Given the description of an element on the screen output the (x, y) to click on. 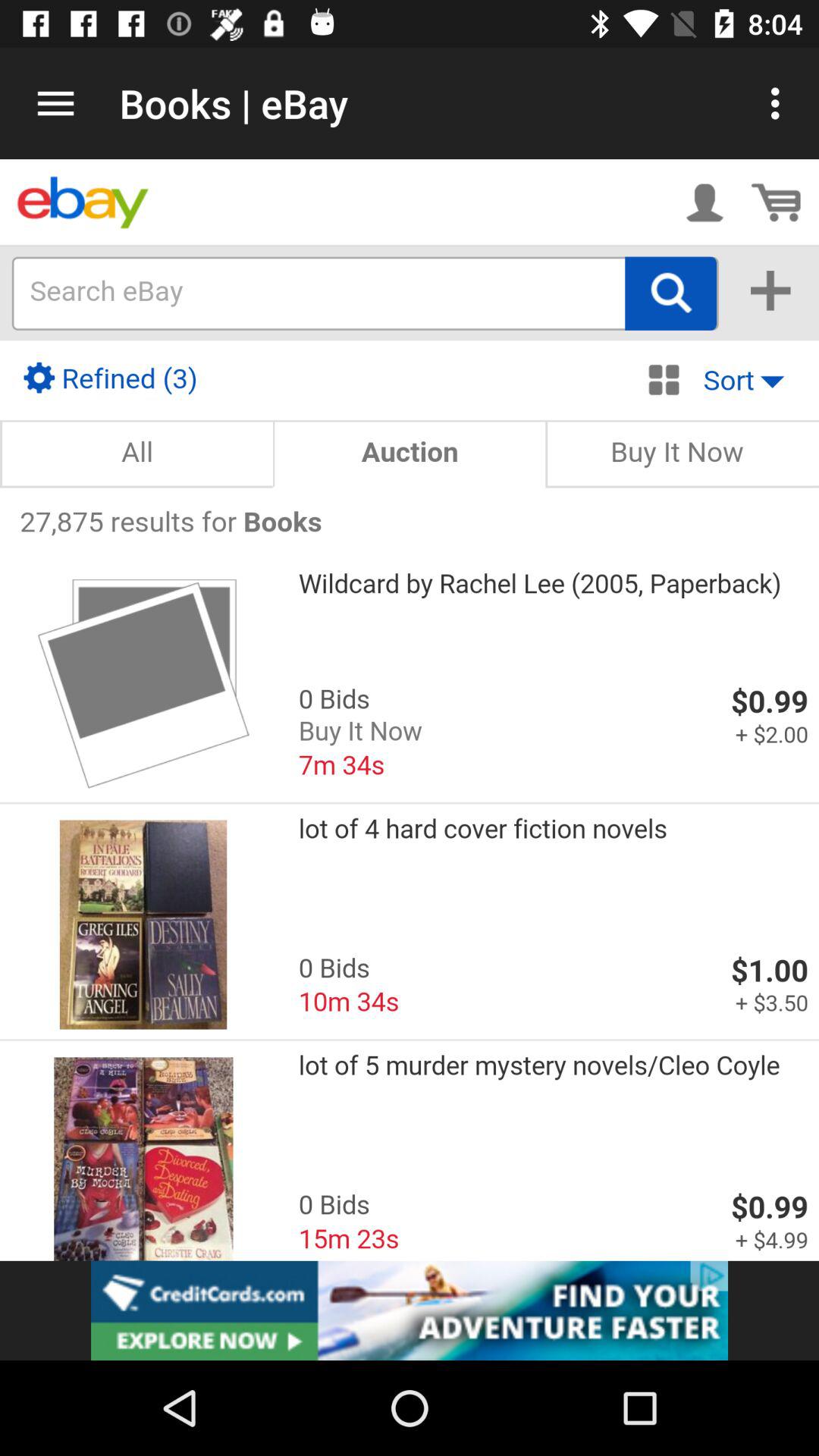
advertise banner (409, 1310)
